Given the description of an element on the screen output the (x, y) to click on. 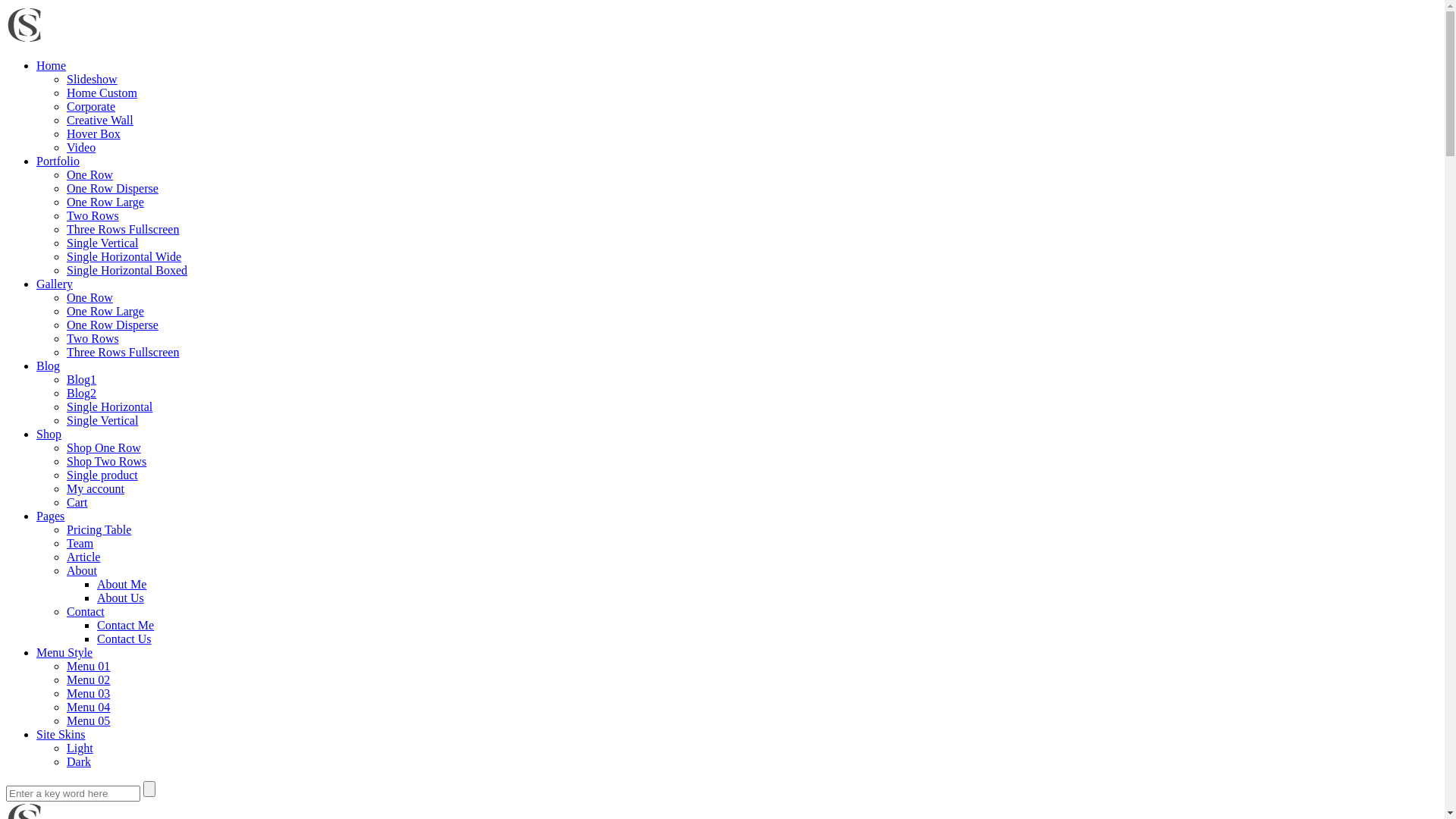
Video Element type: text (80, 147)
Home Custom Element type: text (101, 92)
Slideshow Element type: text (91, 78)
Cart Element type: text (76, 501)
Two Rows Element type: text (92, 338)
Two Rows Element type: text (92, 215)
Menu 05 Element type: text (87, 720)
About Us Element type: text (120, 597)
Menu 01 Element type: text (87, 665)
Light Element type: text (79, 747)
Pricing Table Element type: text (98, 529)
One Row Large Element type: text (105, 201)
Menu Style Element type: text (64, 652)
One Row Element type: text (89, 297)
Menu 03 Element type: text (87, 693)
Shop Two Rows Element type: text (106, 461)
Contact Us Element type: text (124, 638)
One Row Disperse Element type: text (112, 188)
Blog Element type: text (47, 365)
Dark Element type: text (78, 761)
Three Rows Fullscreen Element type: text (122, 228)
About Me Element type: text (121, 583)
One Row Element type: text (89, 174)
Blog1 Element type: text (81, 379)
Three Rows Fullscreen Element type: text (122, 351)
Single Horizontal Element type: text (109, 406)
Single Horizontal Wide Element type: text (123, 256)
Shop One Row Element type: text (103, 447)
Article Element type: text (83, 556)
Portfolio Element type: text (57, 160)
Corporate Element type: text (90, 106)
Menu 04 Element type: text (87, 706)
My account Element type: text (95, 488)
Hover Box Element type: text (93, 133)
One Row Large Element type: text (105, 310)
Menu 02 Element type: text (87, 679)
One Row Disperse Element type: text (112, 324)
Shop Element type: text (48, 433)
Contact Element type: text (85, 611)
Blog2 Element type: text (81, 392)
Gallery Element type: text (54, 283)
Creative Wall Element type: text (99, 119)
Single product Element type: text (102, 474)
About Element type: text (81, 570)
Team Element type: text (79, 542)
Single Horizontal Boxed Element type: text (126, 269)
Pages Element type: text (50, 515)
Home Element type: text (50, 65)
Single Vertical Element type: text (102, 420)
Single Vertical Element type: text (102, 242)
Site Skins Element type: text (60, 734)
Contact Me Element type: text (125, 624)
